Given the description of an element on the screen output the (x, y) to click on. 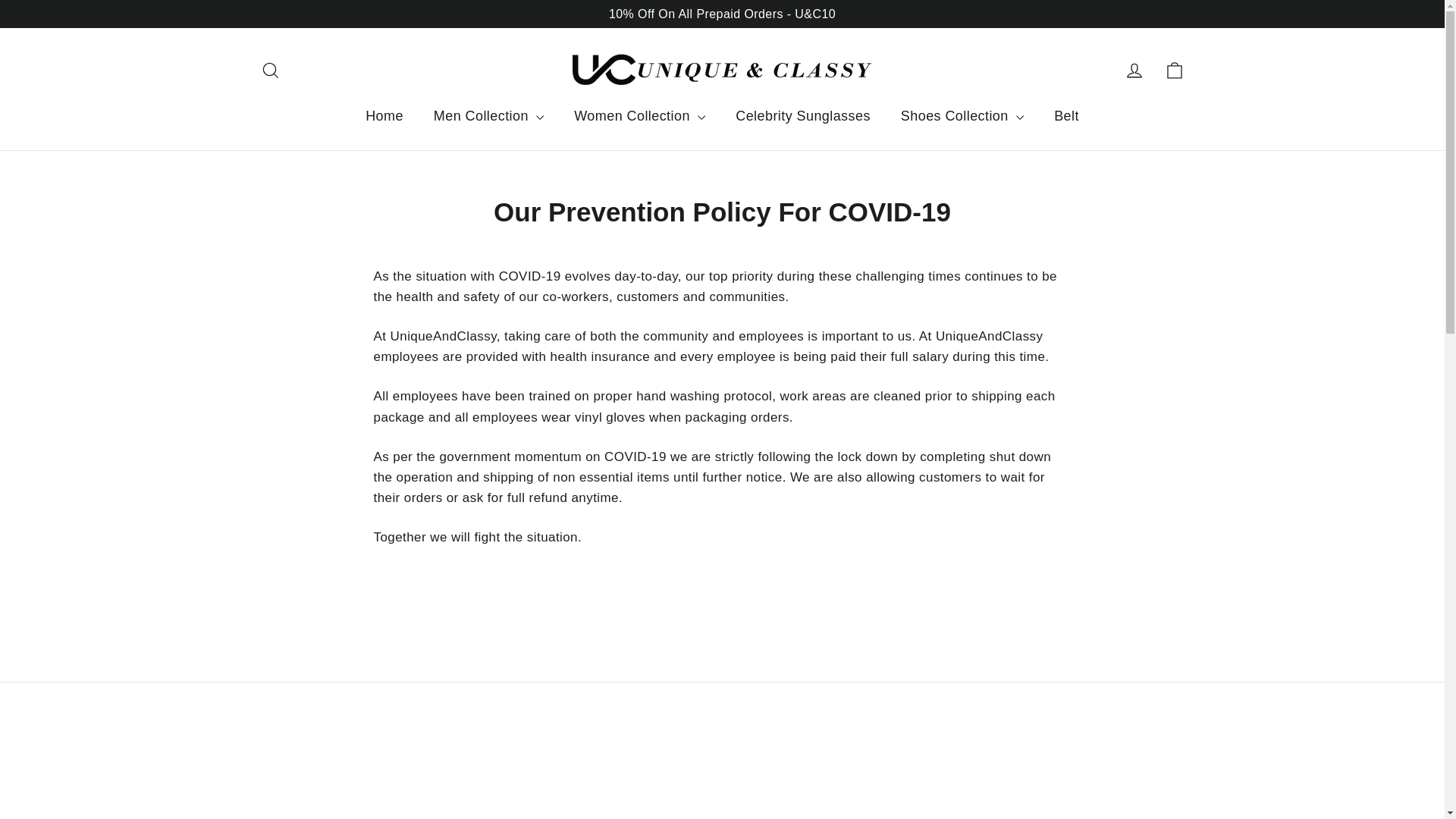
Log in (1134, 70)
Search (269, 70)
Home (384, 116)
Cart (1173, 70)
